Given the description of an element on the screen output the (x, y) to click on. 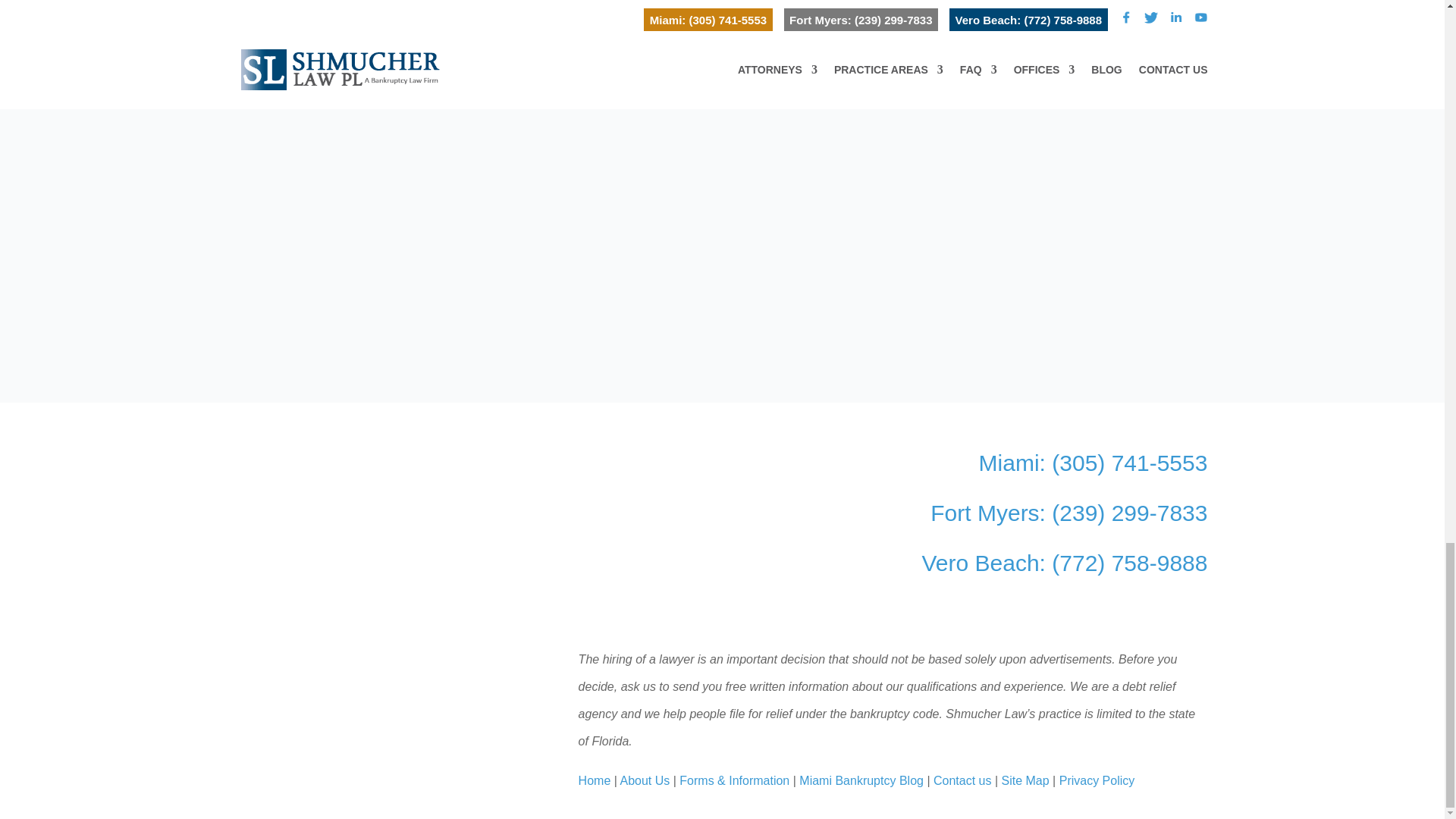
Shmucher Law Logo - Blue (379, 675)
